Given the description of an element on the screen output the (x, y) to click on. 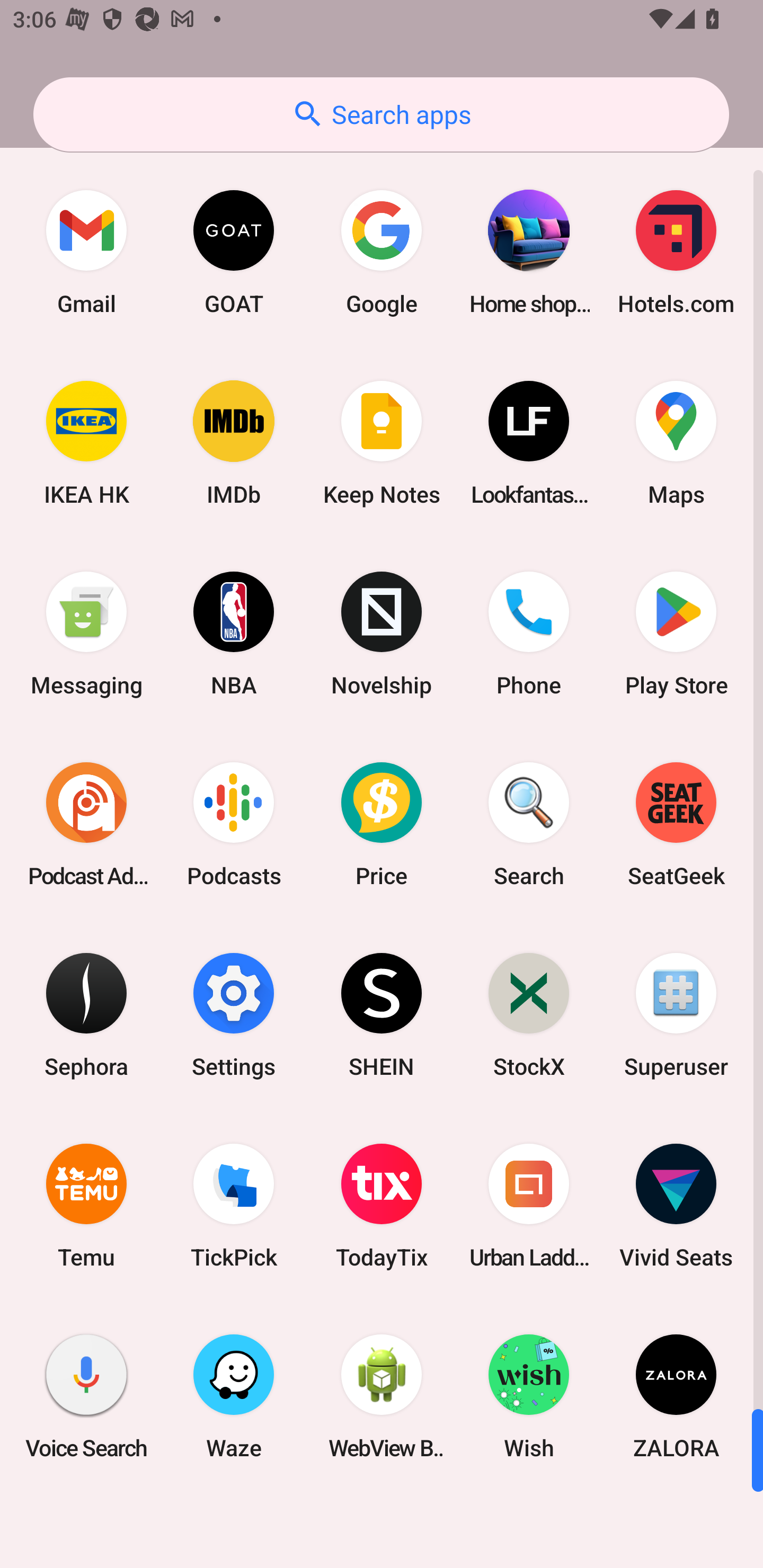
  Search apps (381, 114)
Gmail (86, 252)
GOAT (233, 252)
Google (381, 252)
Home shopping (528, 252)
Hotels.com (676, 252)
IKEA HK (86, 442)
IMDb (233, 442)
Keep Notes (381, 442)
Lookfantastic (528, 442)
Maps (676, 442)
Messaging (86, 633)
NBA (233, 633)
Novelship (381, 633)
Phone (528, 633)
Play Store (676, 633)
Podcast Addict (86, 823)
Podcasts (233, 823)
Price (381, 823)
Search (528, 823)
SeatGeek (676, 823)
Sephora (86, 1014)
Settings (233, 1014)
SHEIN (381, 1014)
StockX (528, 1014)
Superuser (676, 1014)
Temu (86, 1205)
TickPick (233, 1205)
TodayTix (381, 1205)
Urban Ladder (528, 1205)
Vivid Seats (676, 1205)
Voice Search (86, 1396)
Waze (233, 1396)
WebView Browser Tester (381, 1396)
Wish (528, 1396)
ZALORA (676, 1396)
